Given the description of an element on the screen output the (x, y) to click on. 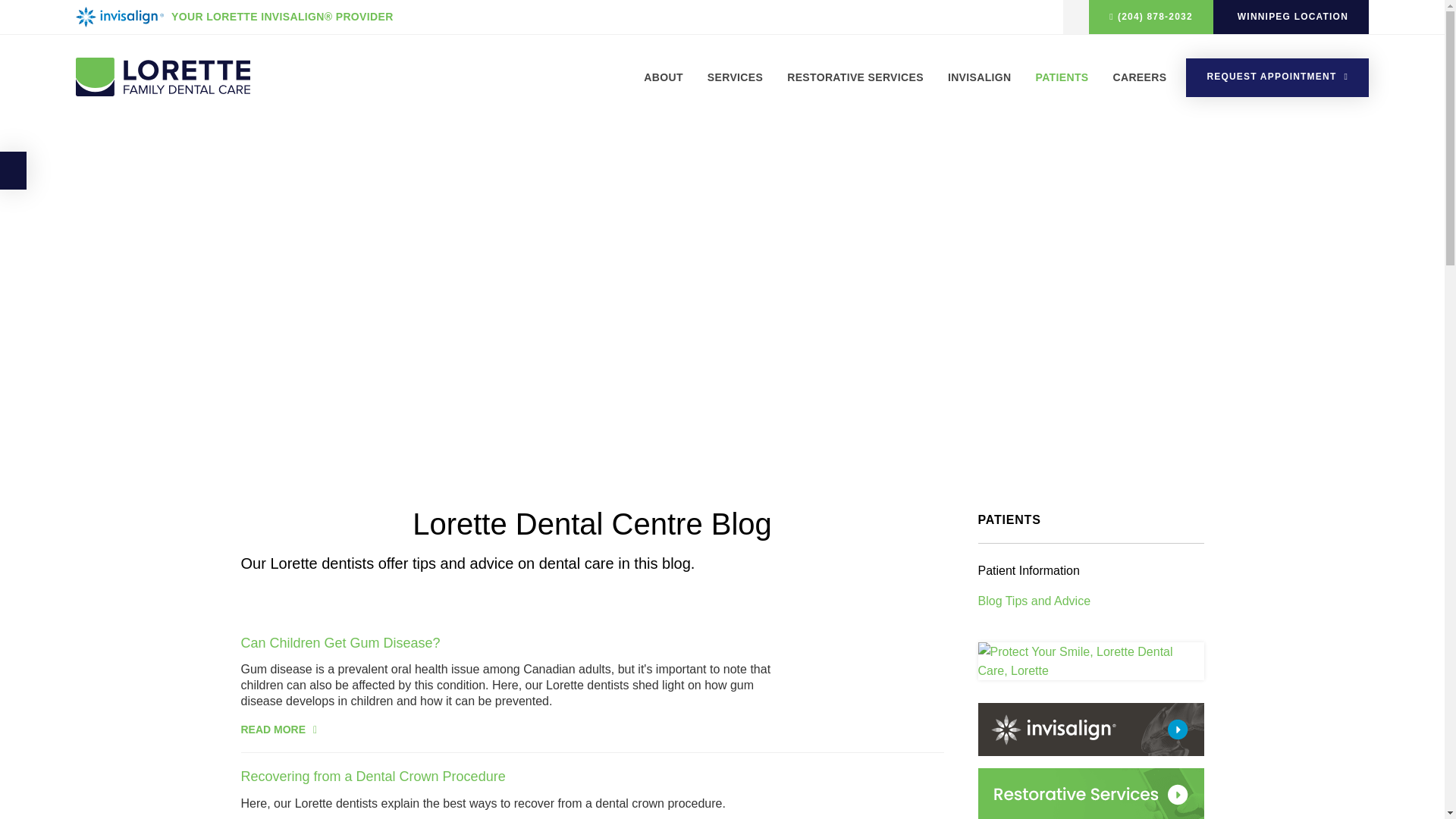
ABOUT (669, 89)
WINNIPEG LOCATION (1290, 17)
